Given the description of an element on the screen output the (x, y) to click on. 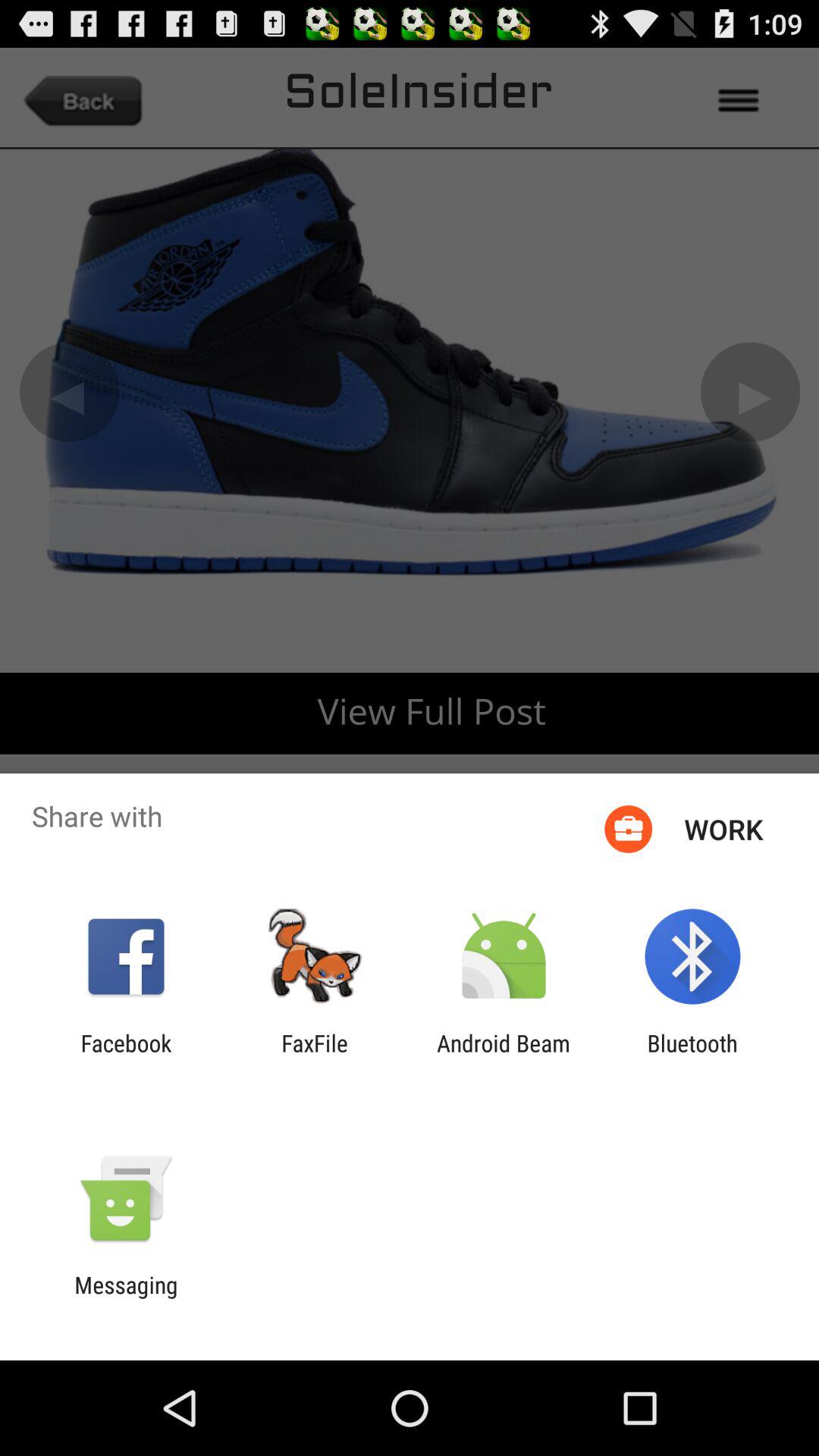
scroll to the bluetooth (692, 1056)
